Given the description of an element on the screen output the (x, y) to click on. 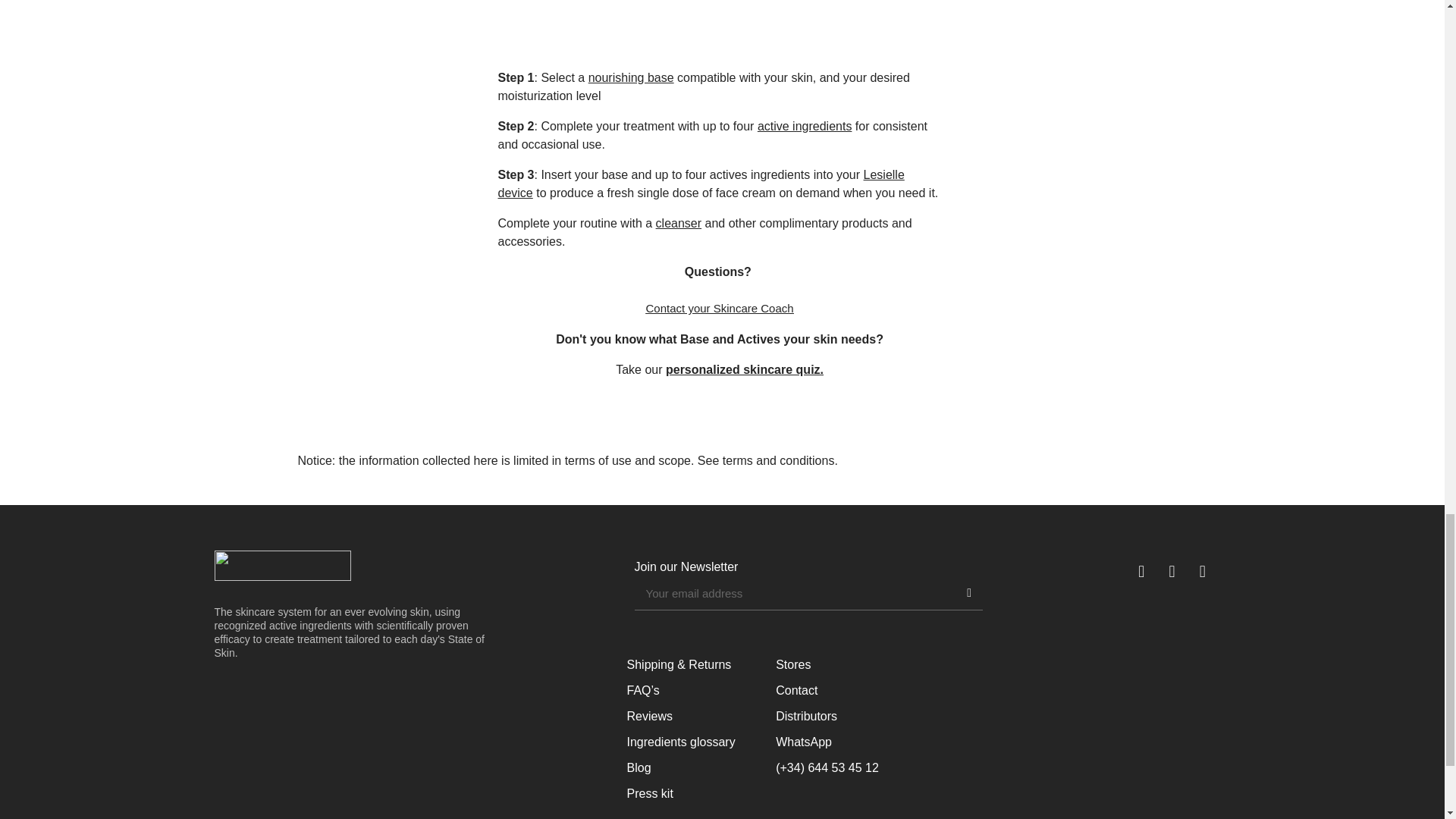
Icons of the lesielle custom skin care system (719, 30)
Lesielle device (700, 183)
active ingredients (804, 125)
nourishing base (631, 77)
